Given the description of an element on the screen output the (x, y) to click on. 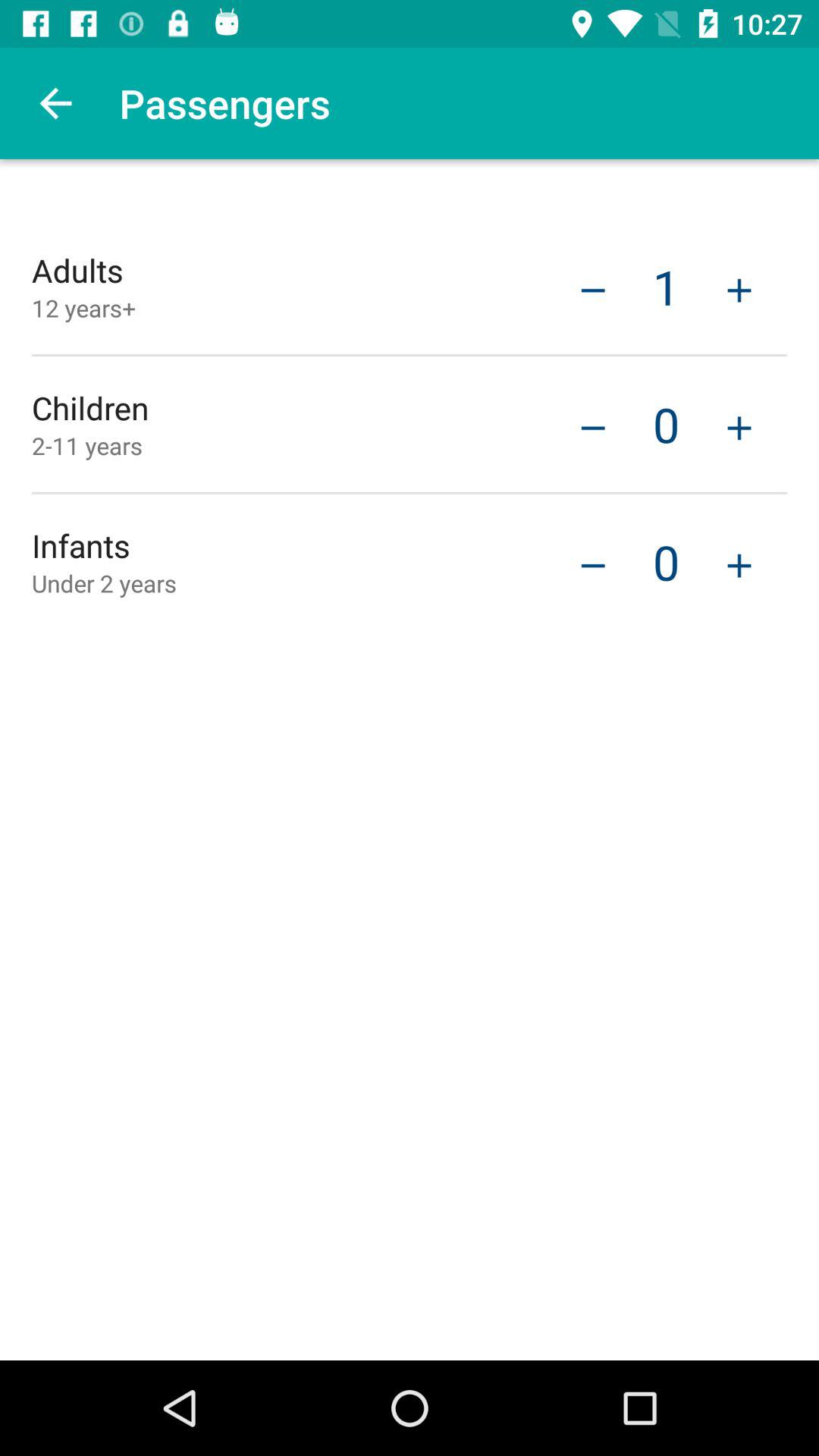
launch the item to the right of the 0 (739, 426)
